Given the description of an element on the screen output the (x, y) to click on. 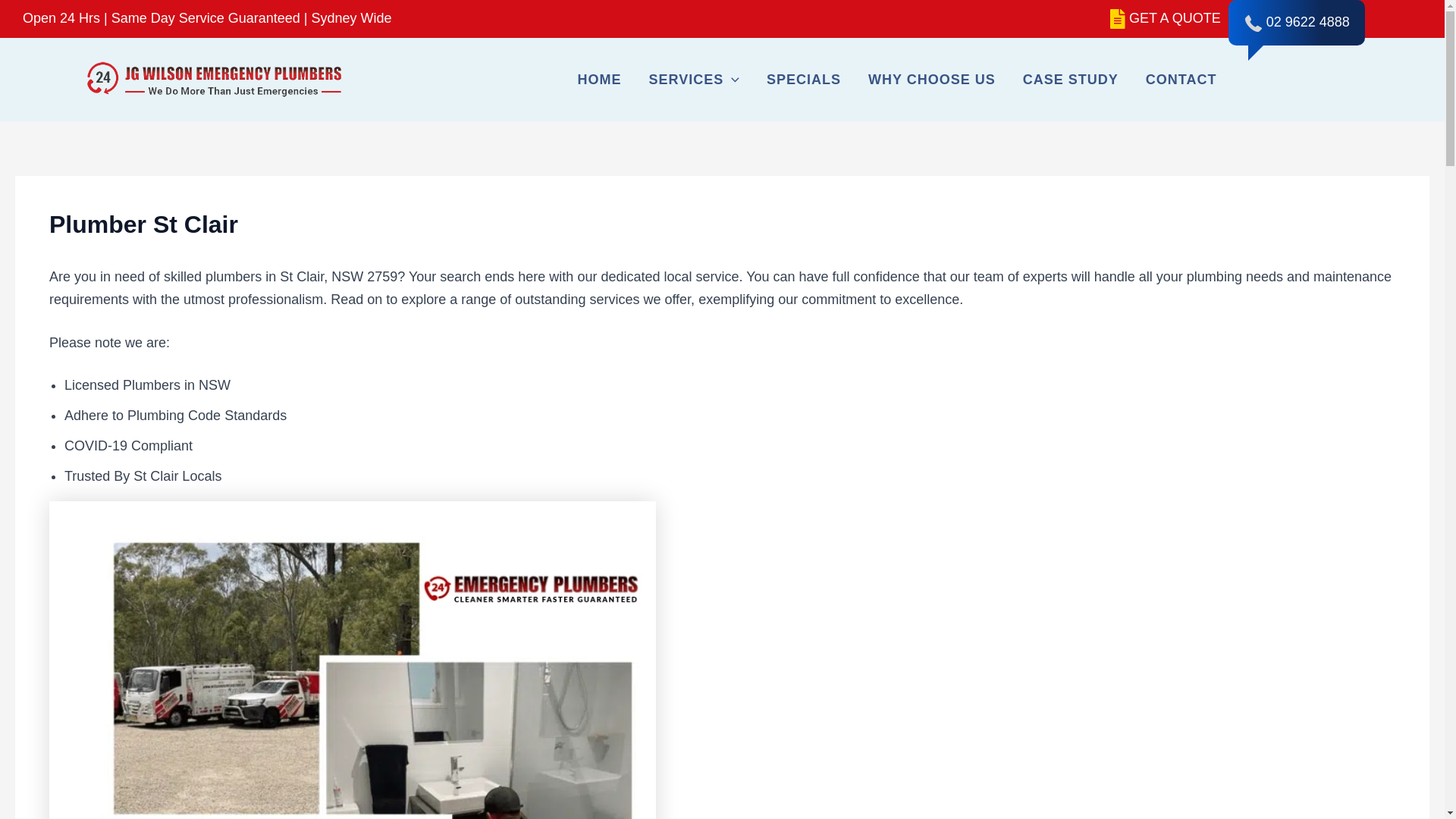
SPECIALS (803, 79)
SERVICES (694, 79)
02 9622 4888 (1307, 21)
CASE STUDY (1070, 79)
CONTACT (1181, 79)
WHY CHOOSE US (931, 79)
